Given the description of an element on the screen output the (x, y) to click on. 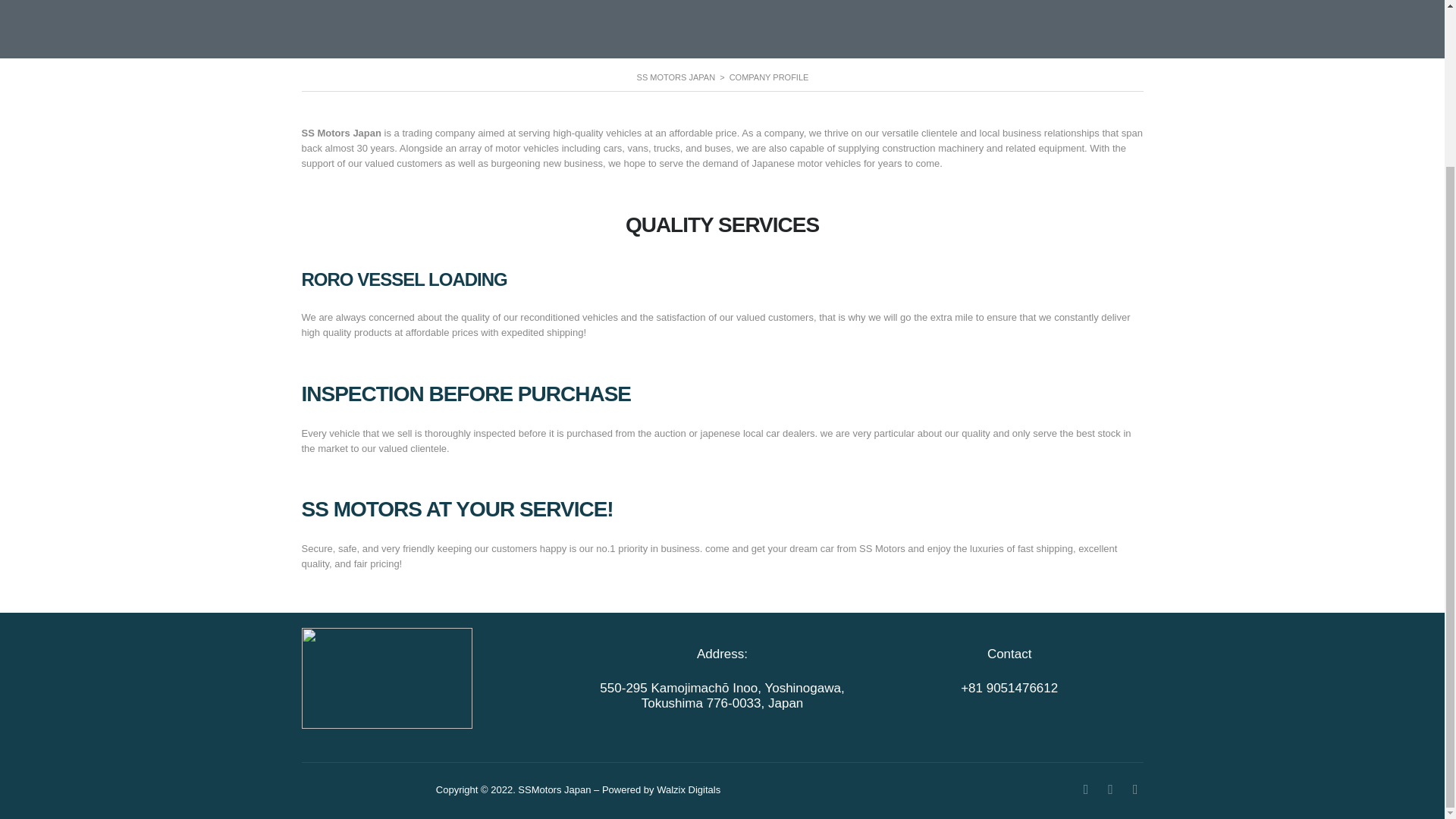
Go to SS Motors Japan. (676, 76)
SS MOTORS JAPAN (676, 76)
